Given the description of an element on the screen output the (x, y) to click on. 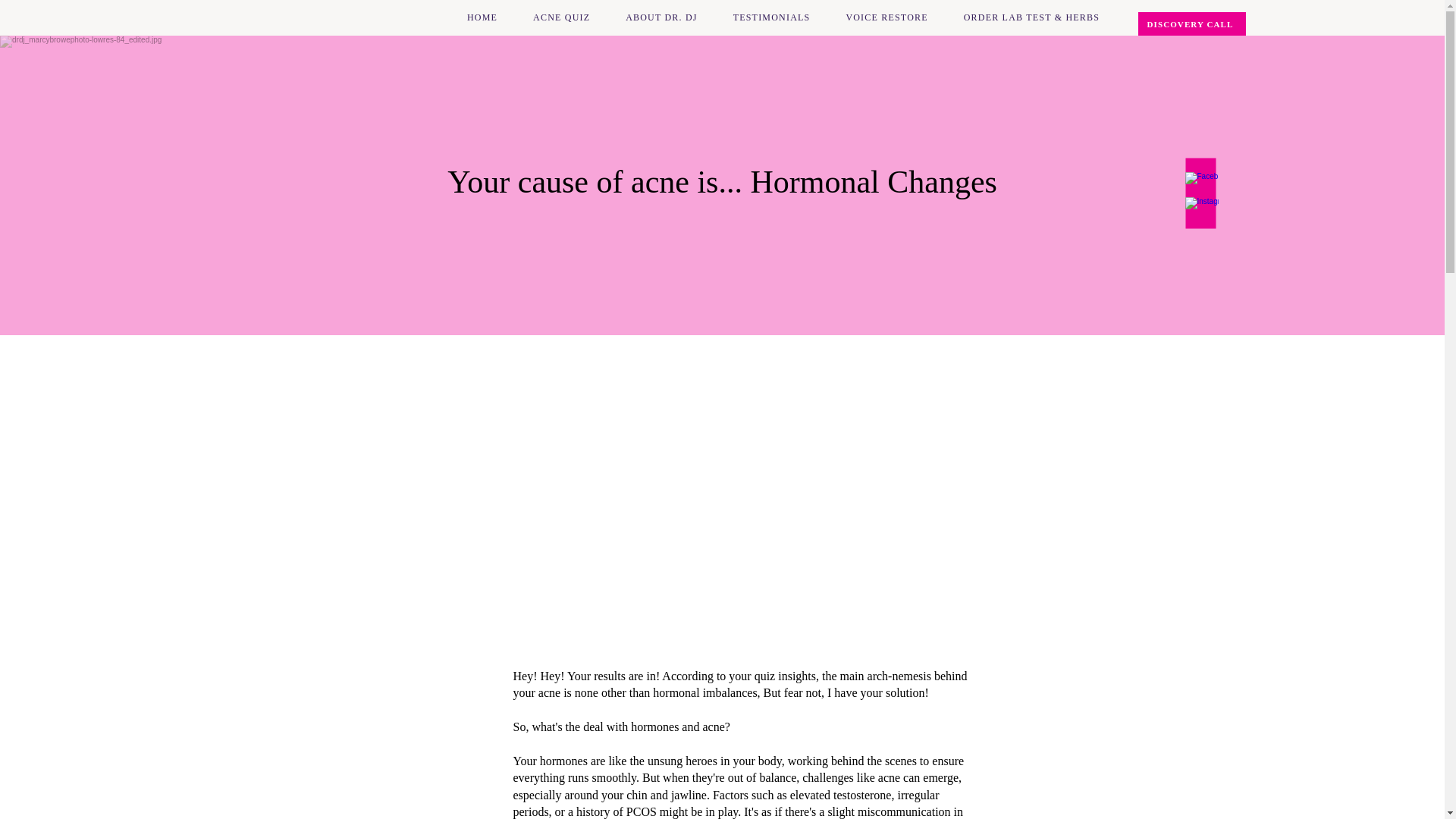
DISCOVERY CALL (1190, 24)
ACNE QUIZ (561, 17)
VOICE RESTORE (886, 17)
TESTIMONIALS (771, 17)
HOME (481, 17)
ABOUT DR. DJ (662, 17)
